Given the description of an element on the screen output the (x, y) to click on. 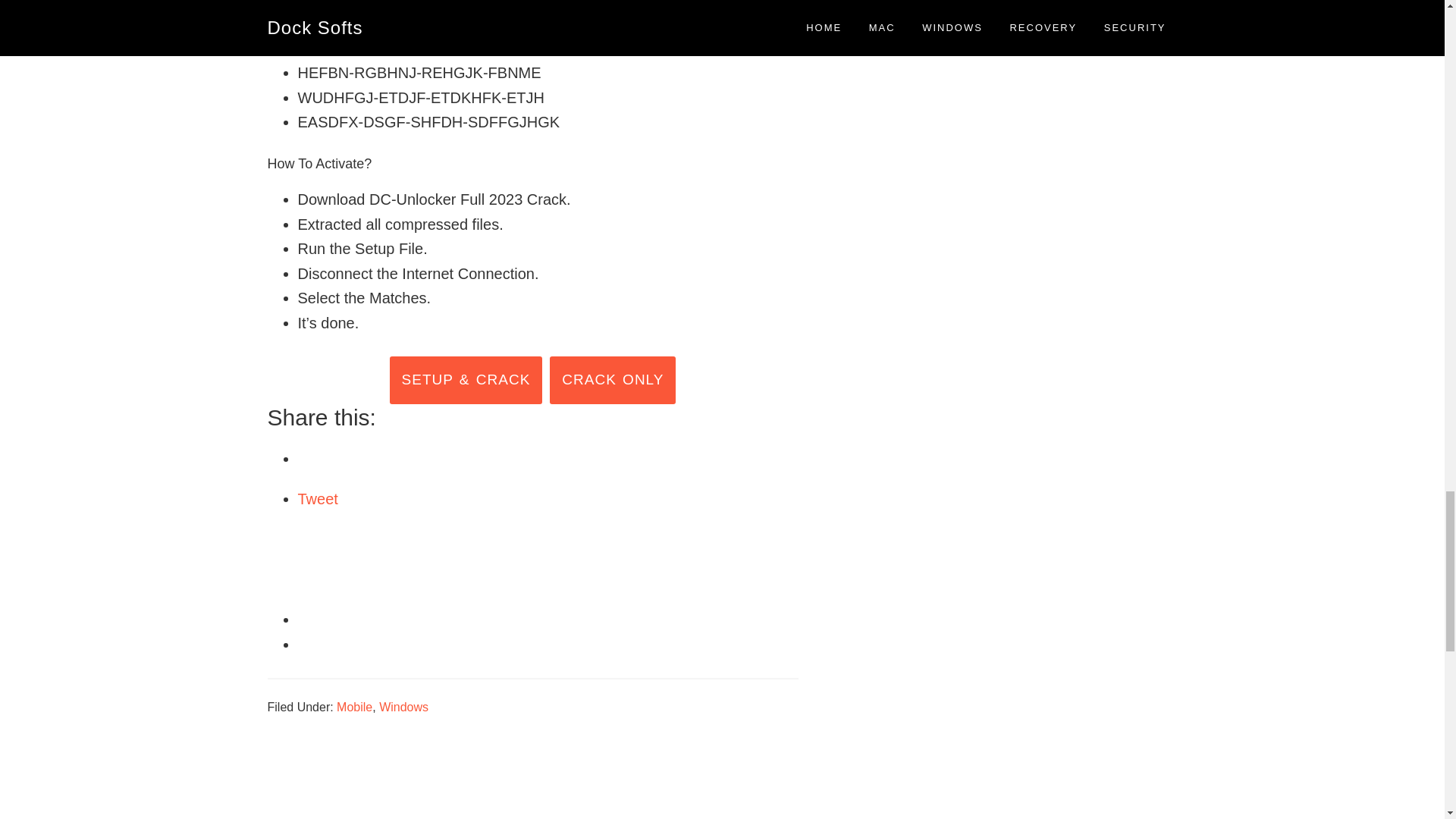
Windows (403, 707)
CRACK ONLY (612, 380)
Mobile (354, 707)
Tweet (317, 498)
